Given the description of an element on the screen output the (x, y) to click on. 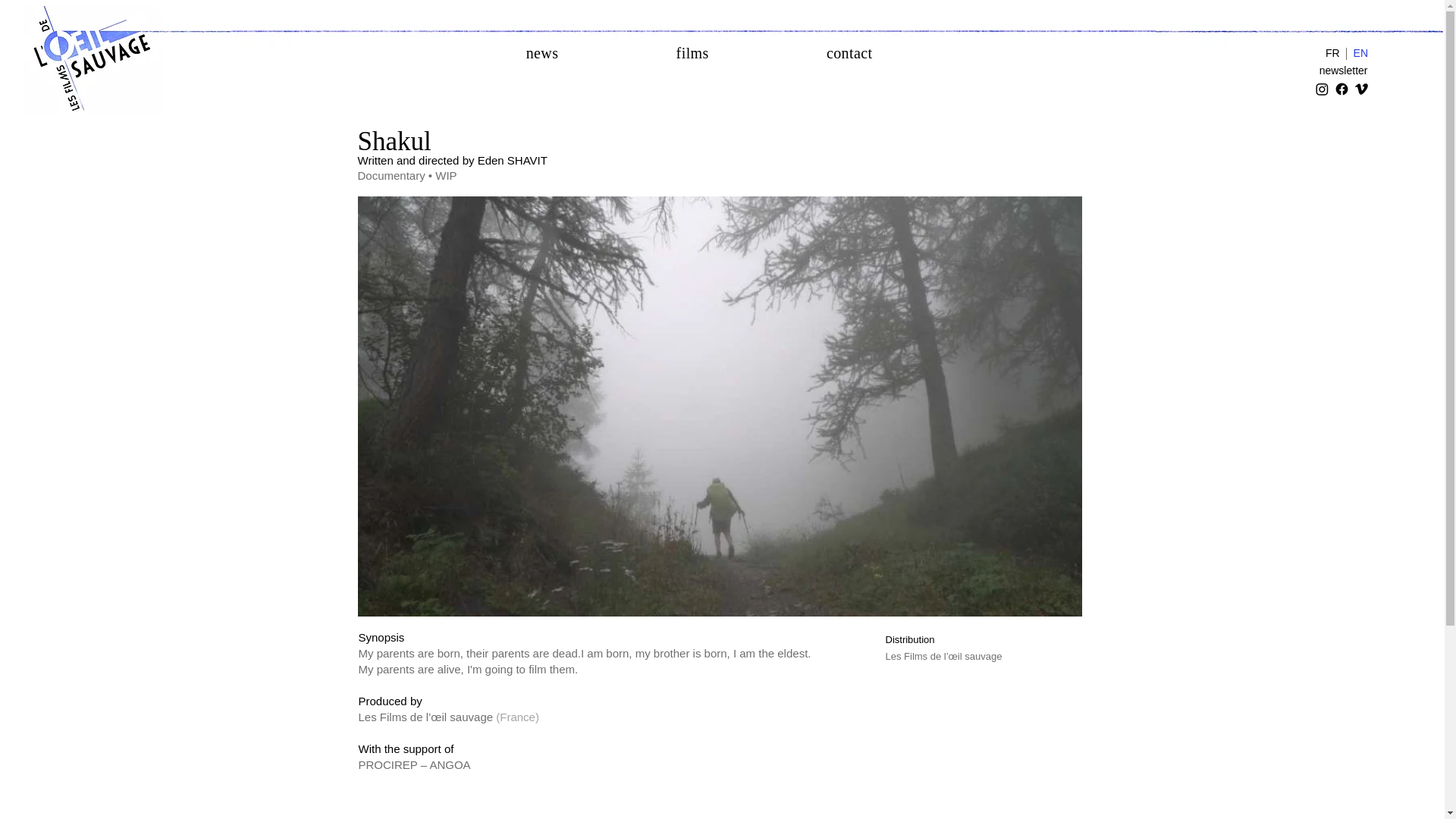
FR (1332, 53)
EN (1359, 53)
newsletter (1329, 69)
contact (849, 52)
films (692, 52)
news (542, 52)
